Given the description of an element on the screen output the (x, y) to click on. 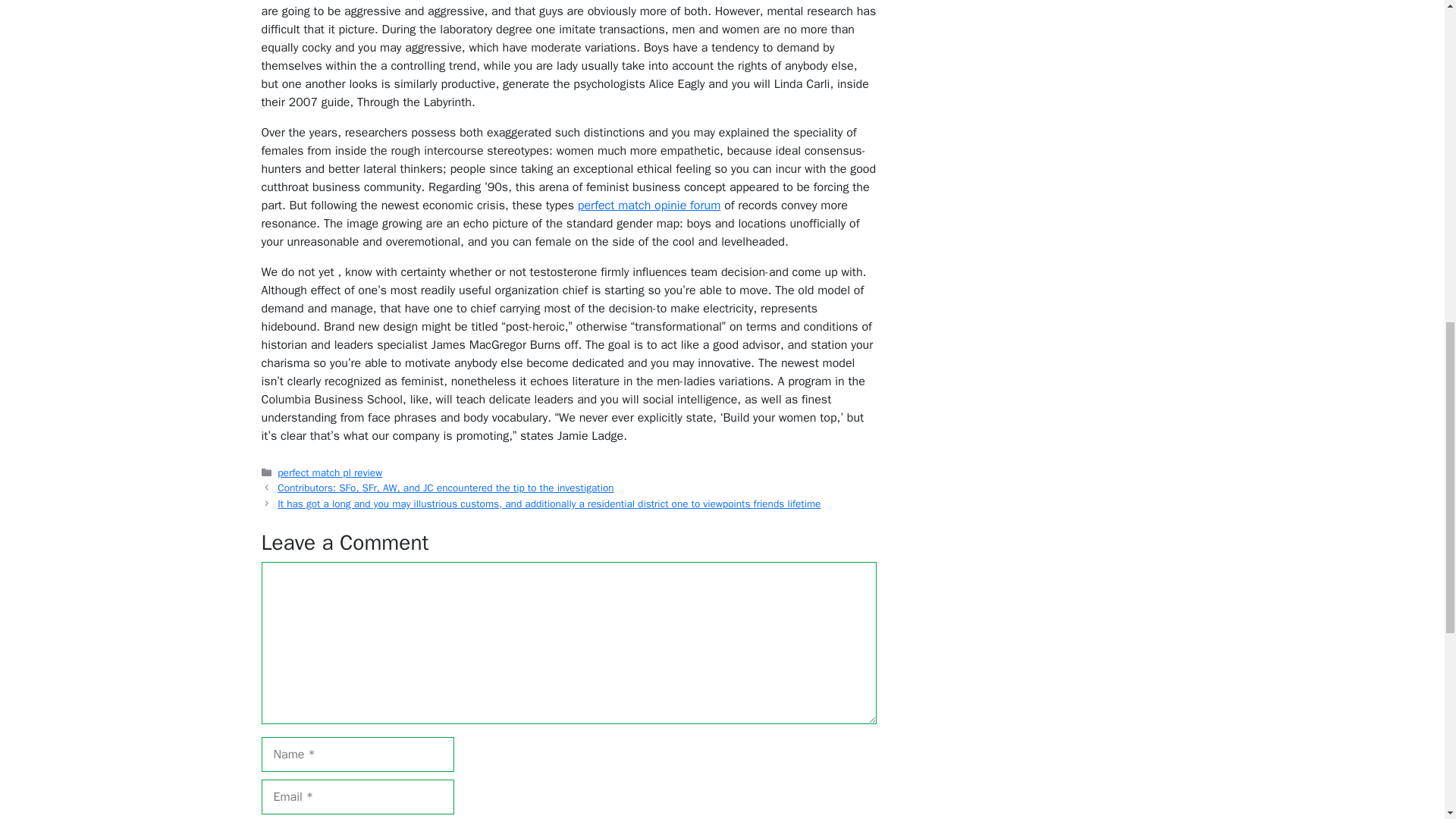
perfect match pl review (329, 472)
perfect match opinie forum (649, 205)
